Given the description of an element on the screen output the (x, y) to click on. 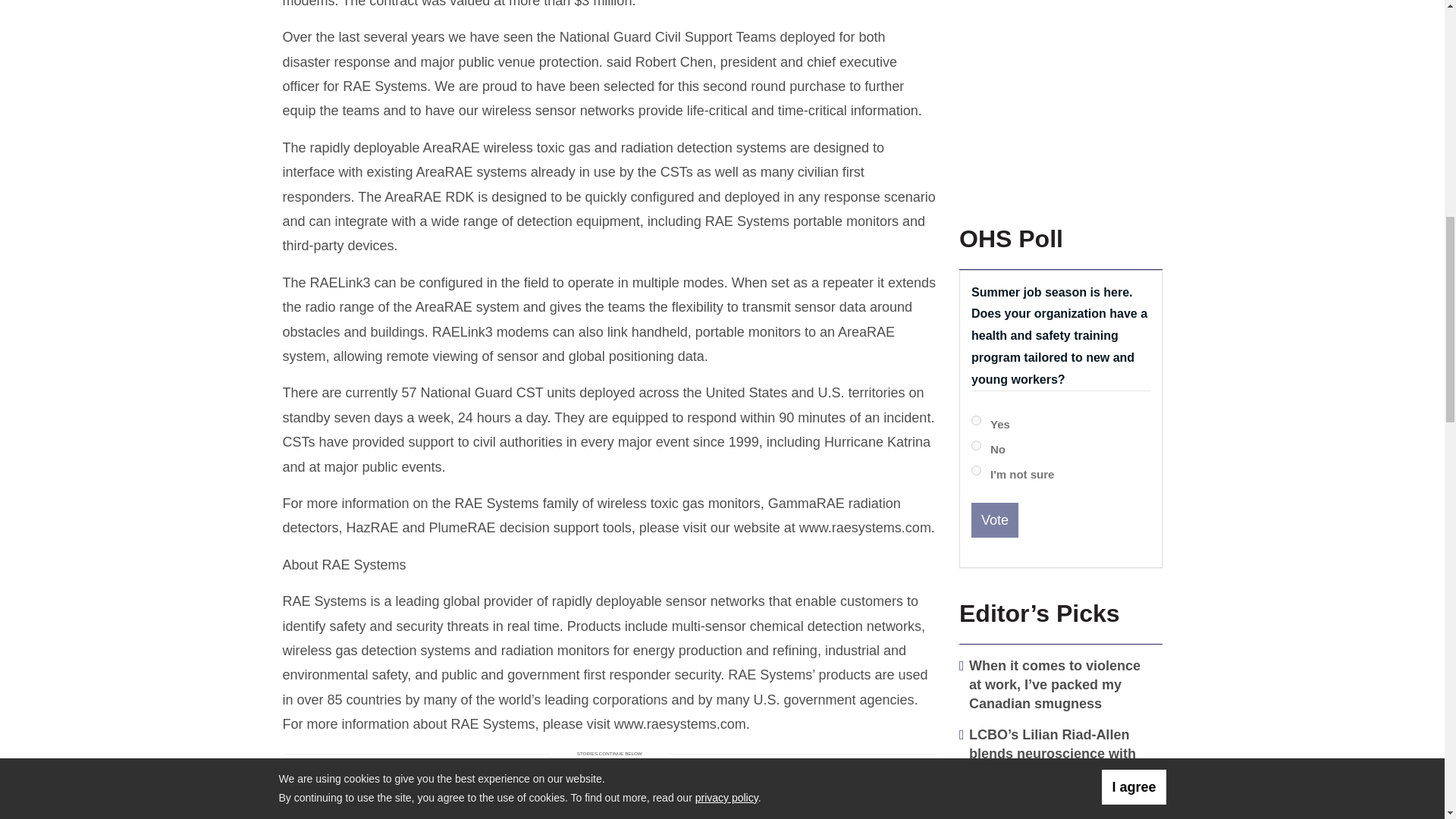
gpoll141fdf755 (976, 470)
gpoll135233128 (976, 420)
Vote (994, 519)
gpoll188dfb902 (976, 445)
3rd party ad content (1057, 94)
